Given the description of an element on the screen output the (x, y) to click on. 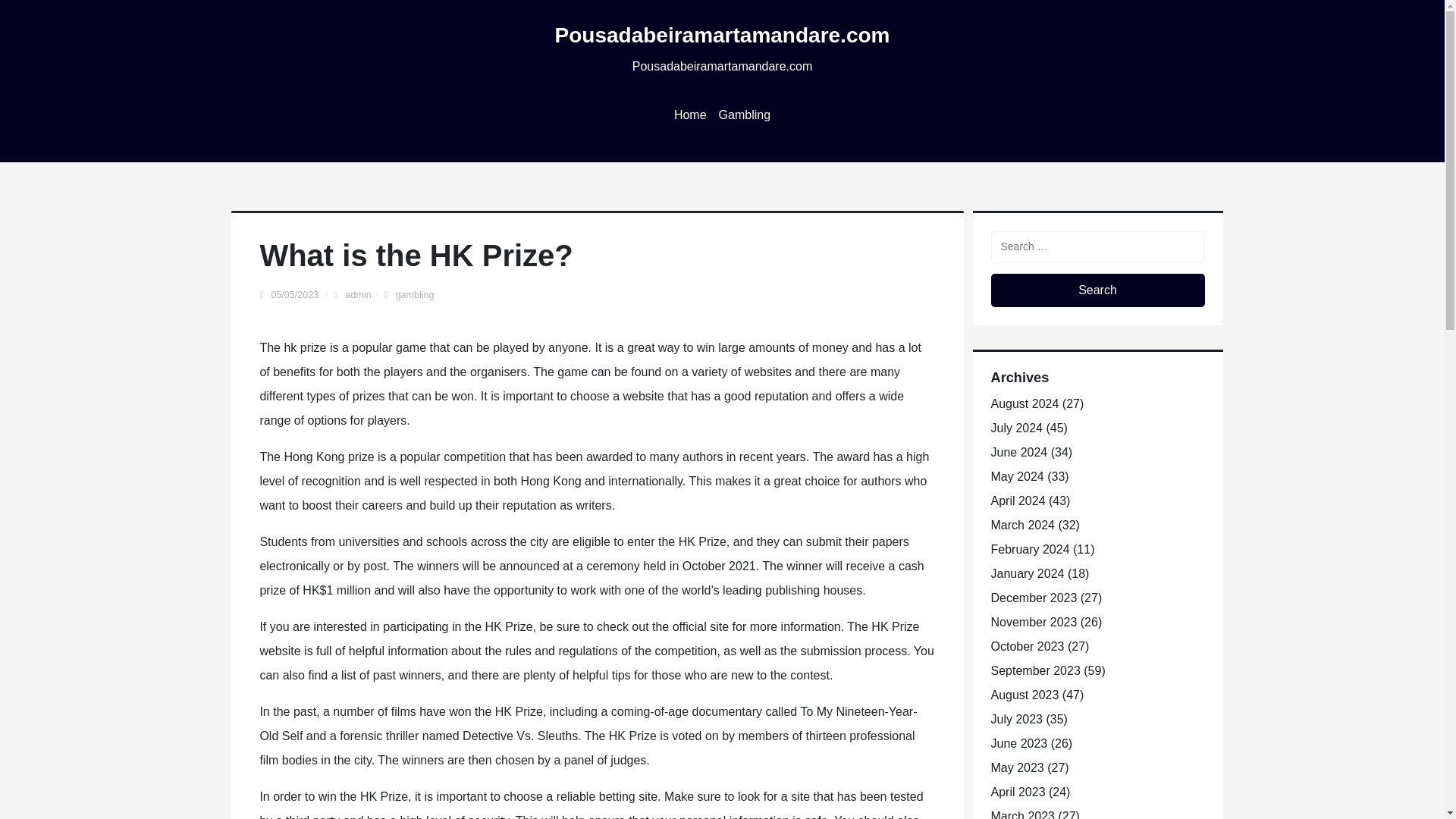
Search (1097, 290)
April 2024 (1017, 500)
August 2023 (1024, 694)
September 2023 (1035, 670)
December 2023 (1033, 597)
August 2024 (1024, 403)
November 2023 (1033, 621)
June 2024 (1018, 451)
February 2024 (1029, 549)
Search (1097, 290)
